Given the description of an element on the screen output the (x, y) to click on. 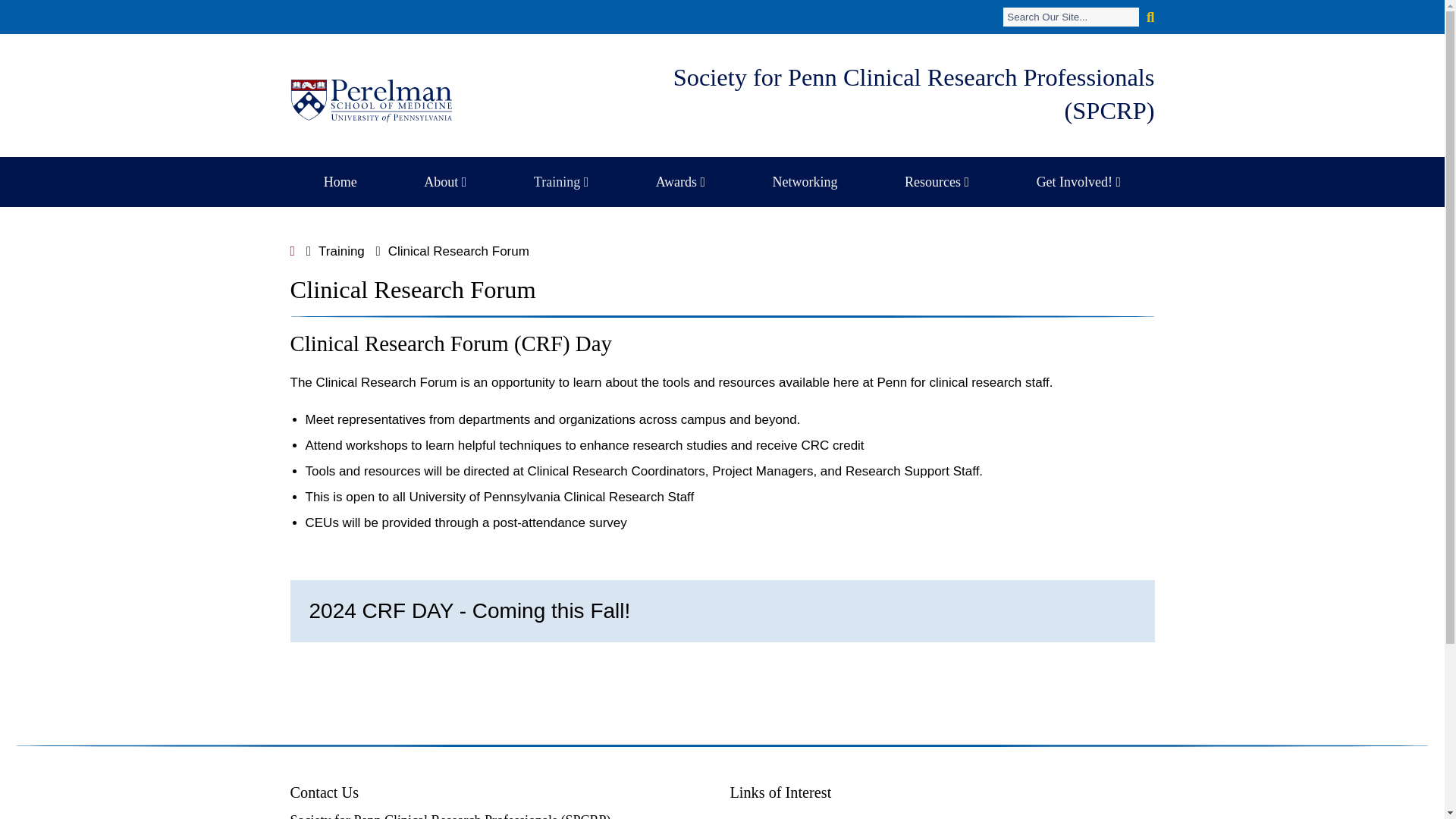
About (444, 181)
Home (340, 182)
Training (560, 181)
Search (1070, 16)
